Given the description of an element on the screen output the (x, y) to click on. 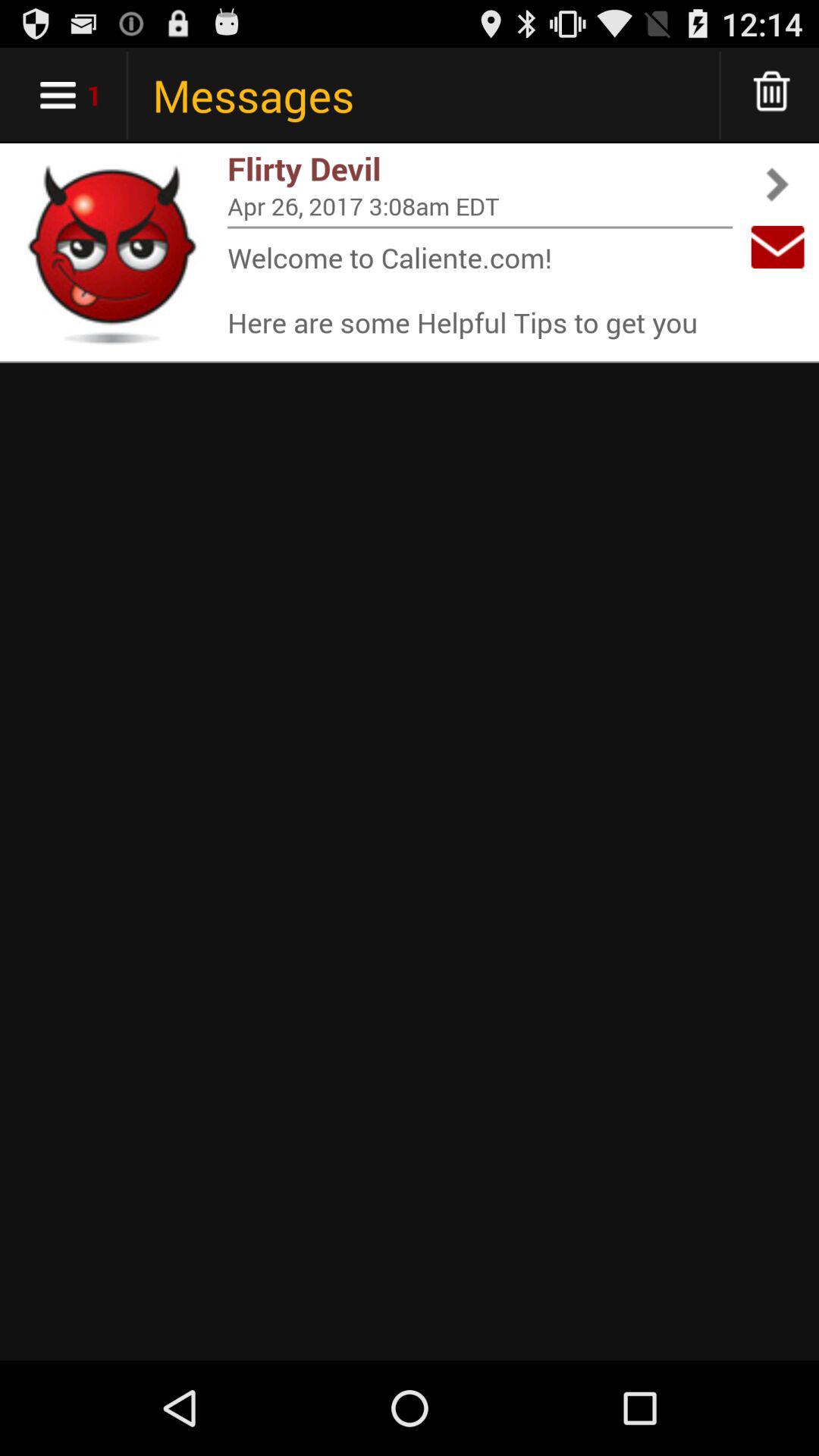
turn off flirty devil (479, 168)
